Given the description of an element on the screen output the (x, y) to click on. 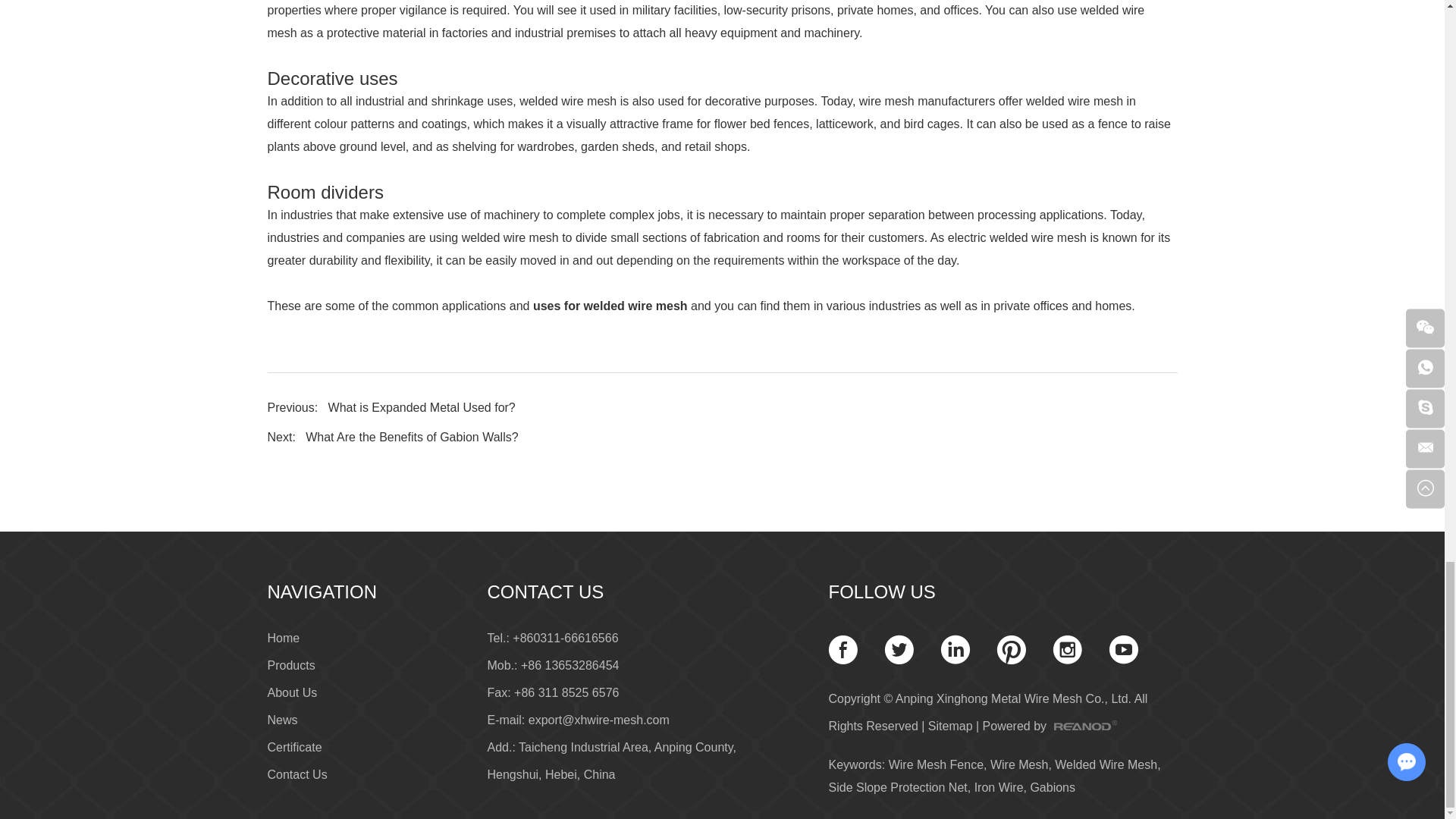
What Are the Benefits of Gabion Walls? (411, 436)
uses for welded wire mesh (609, 305)
Home (282, 637)
Products (290, 665)
What is Expanded Metal Used for? (422, 407)
